Given the description of an element on the screen output the (x, y) to click on. 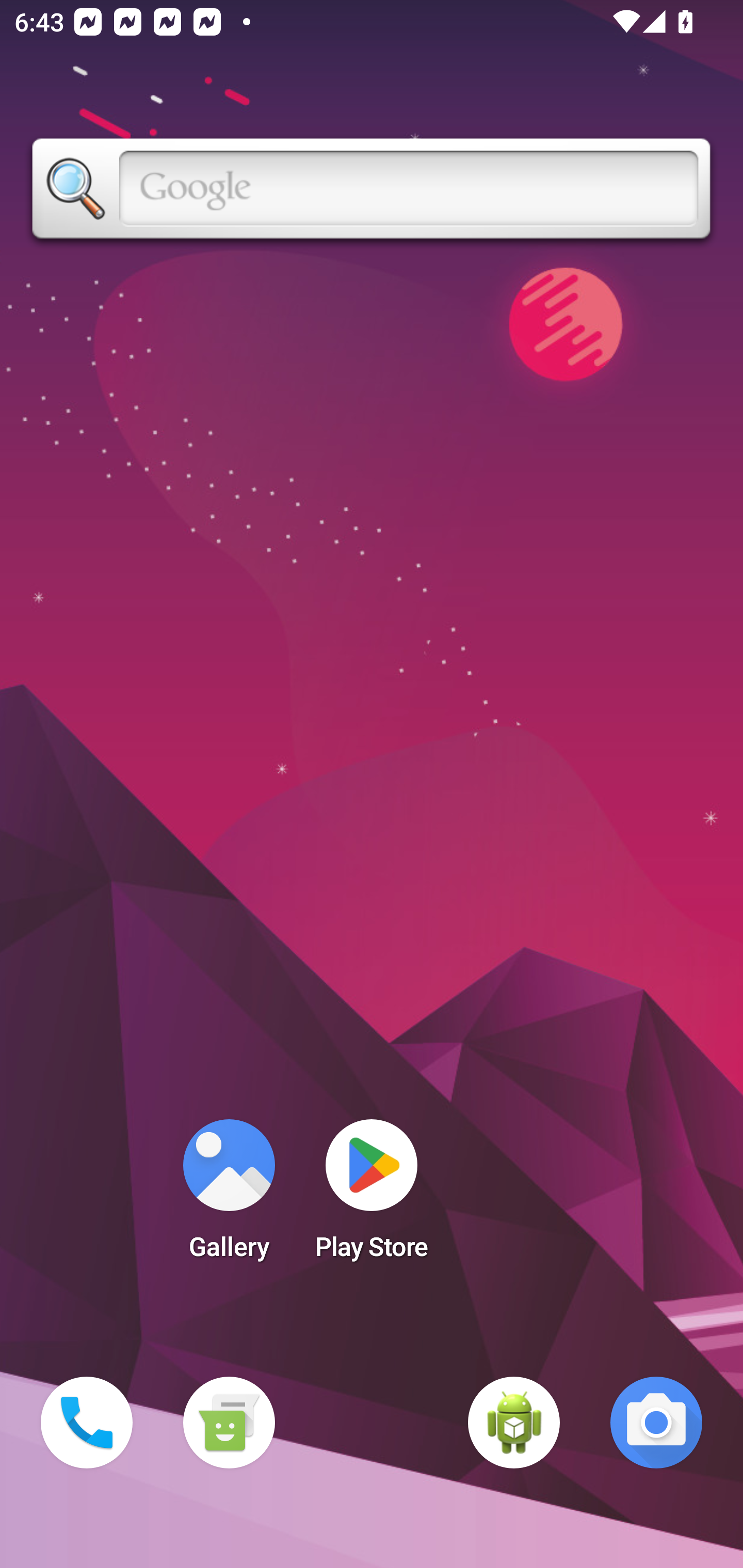
Gallery (228, 1195)
Play Store (371, 1195)
Phone (86, 1422)
Messaging (228, 1422)
WebView Browser Tester (513, 1422)
Camera (656, 1422)
